Given the description of an element on the screen output the (x, y) to click on. 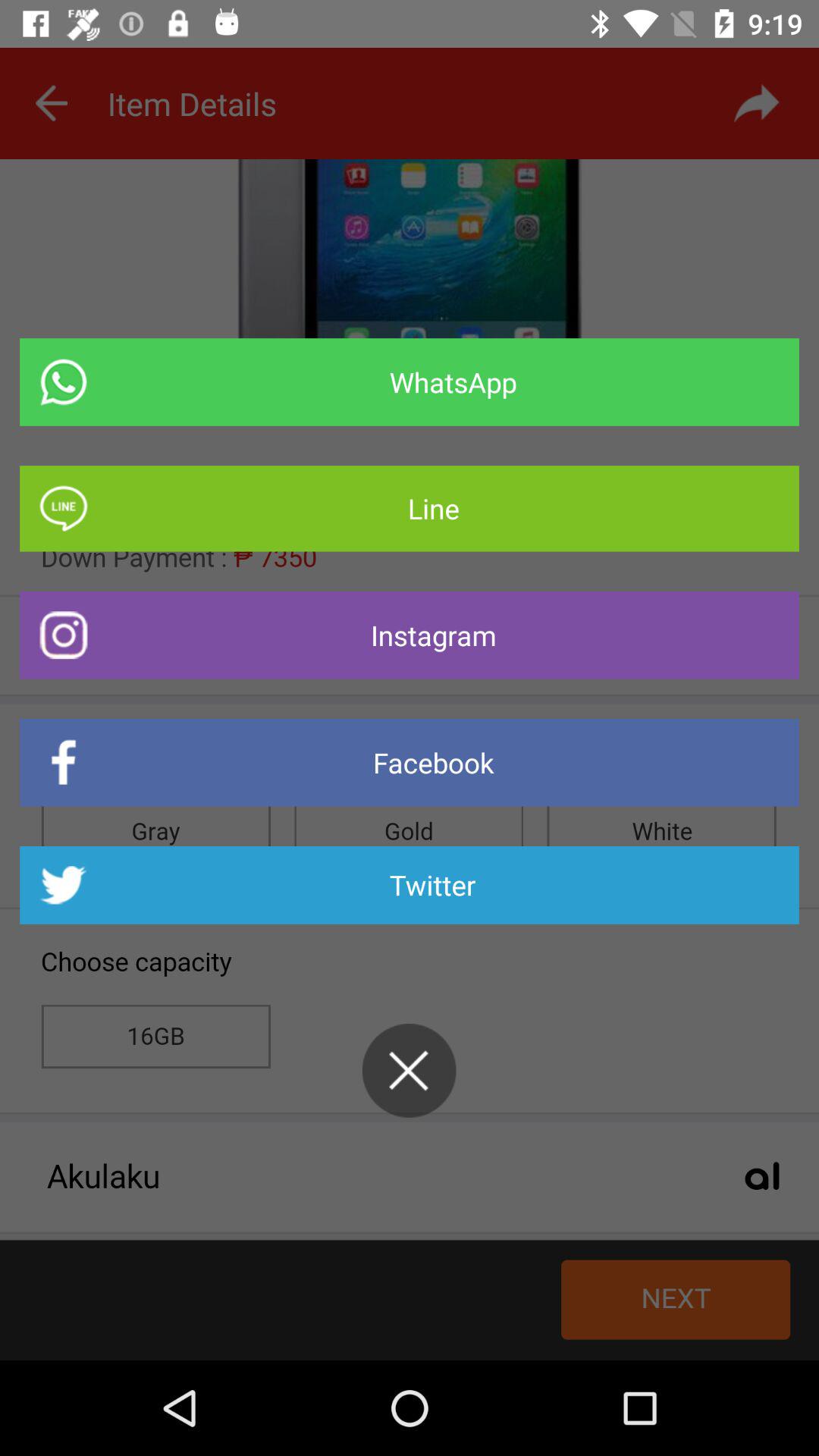
tap the item above the facebook item (409, 635)
